Given the description of an element on the screen output the (x, y) to click on. 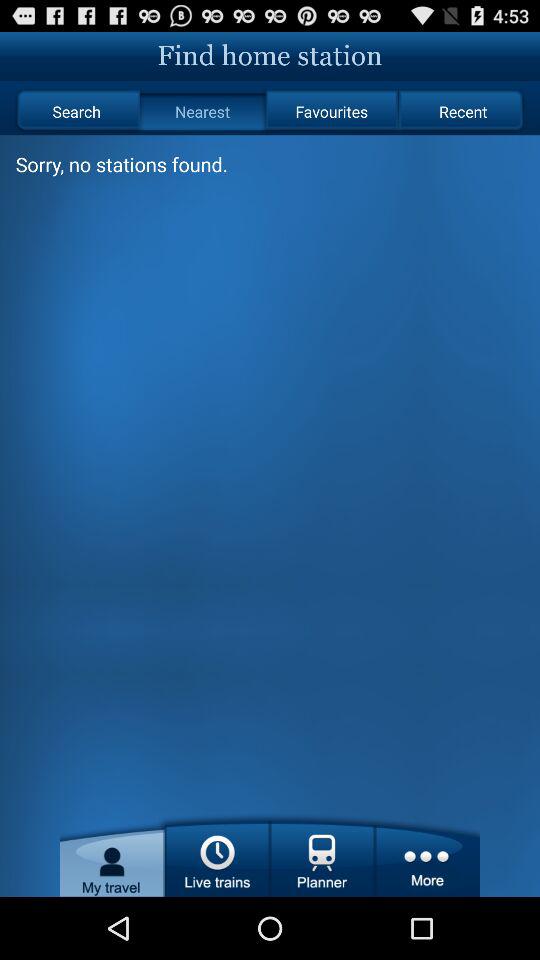
swipe to the search icon (76, 111)
